Given the description of an element on the screen output the (x, y) to click on. 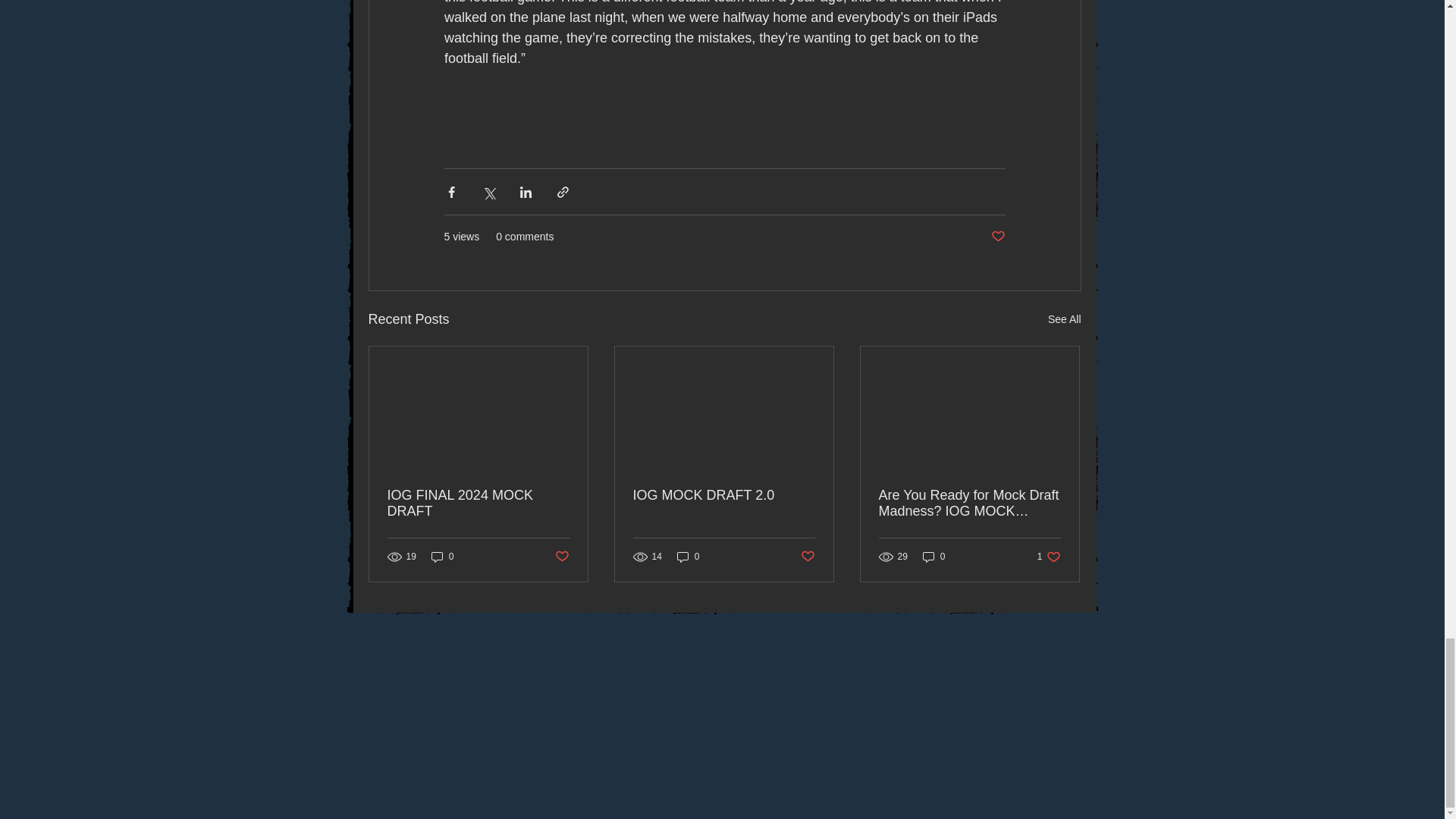
Post not marked as liked (997, 236)
Post not marked as liked (807, 556)
0 (442, 556)
Are You Ready for Mock Draft Madness? IOG MOCK DRAFT 1.0 (968, 503)
Post not marked as liked (561, 556)
IOG MOCK DRAFT 2.0 (722, 495)
IOG FINAL 2024 MOCK DRAFT (478, 503)
0 (688, 556)
See All (1064, 319)
